Given the description of an element on the screen output the (x, y) to click on. 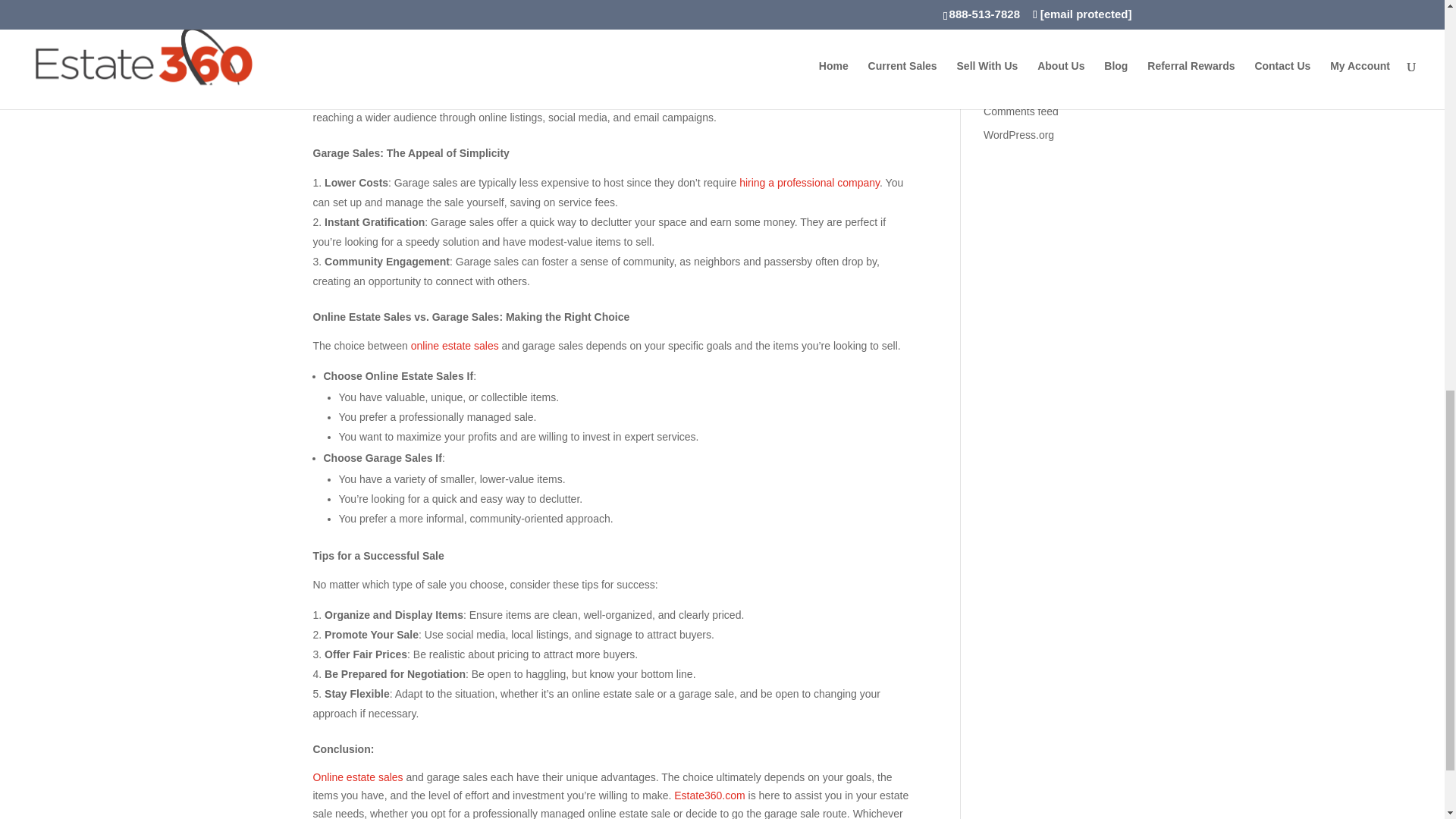
Online estate sales (410, 58)
Log in (997, 64)
Estate360.com (709, 795)
Uncategorized (1017, 4)
hiring a professional company (809, 182)
online estate sales (454, 345)
Online estate sales (358, 776)
Online estate sales (451, 19)
Estate360.com (591, 97)
